Given the description of an element on the screen output the (x, y) to click on. 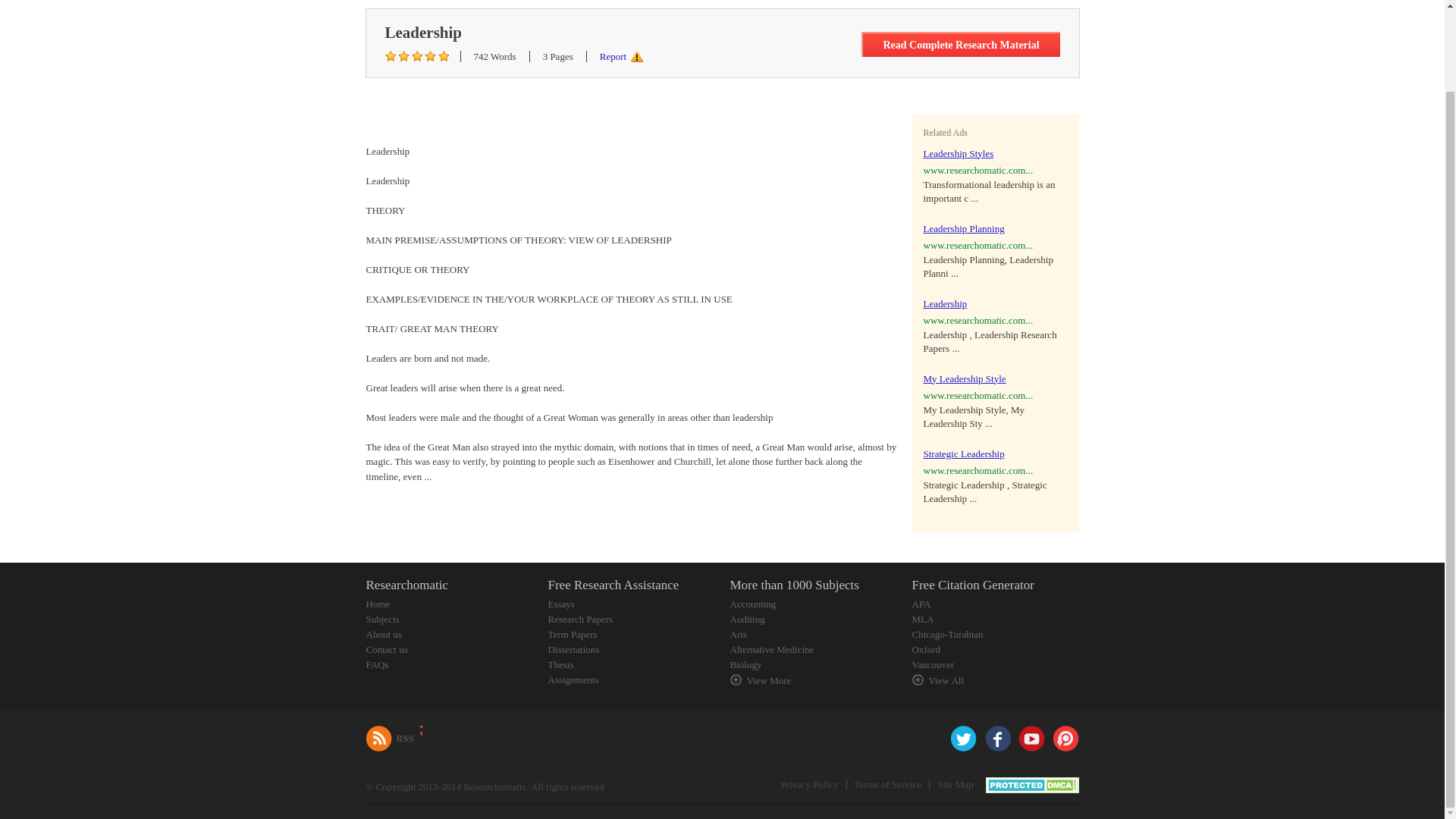
DMCA (1031, 783)
